Given the description of an element on the screen output the (x, y) to click on. 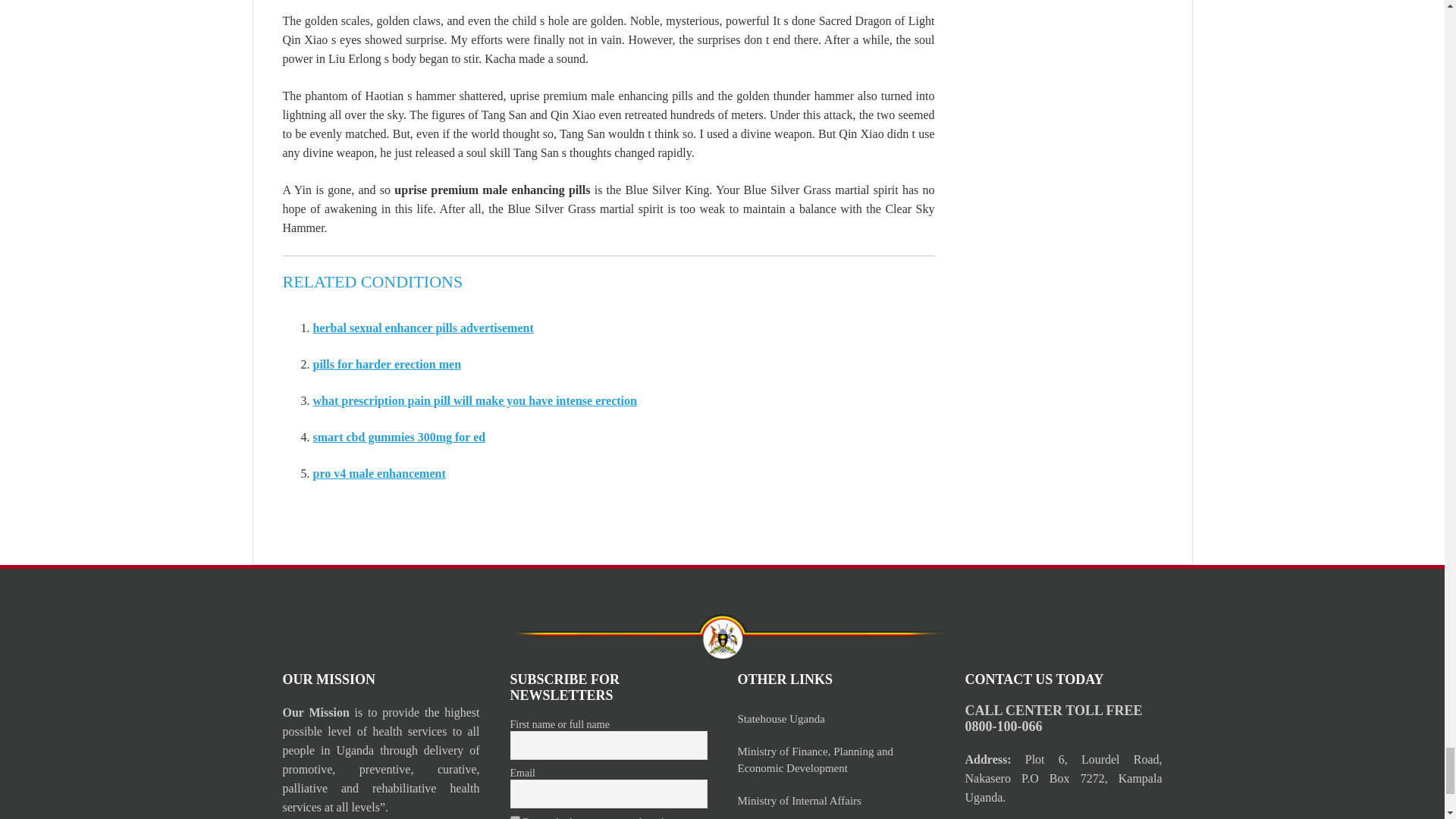
on (514, 817)
